Given the description of an element on the screen output the (x, y) to click on. 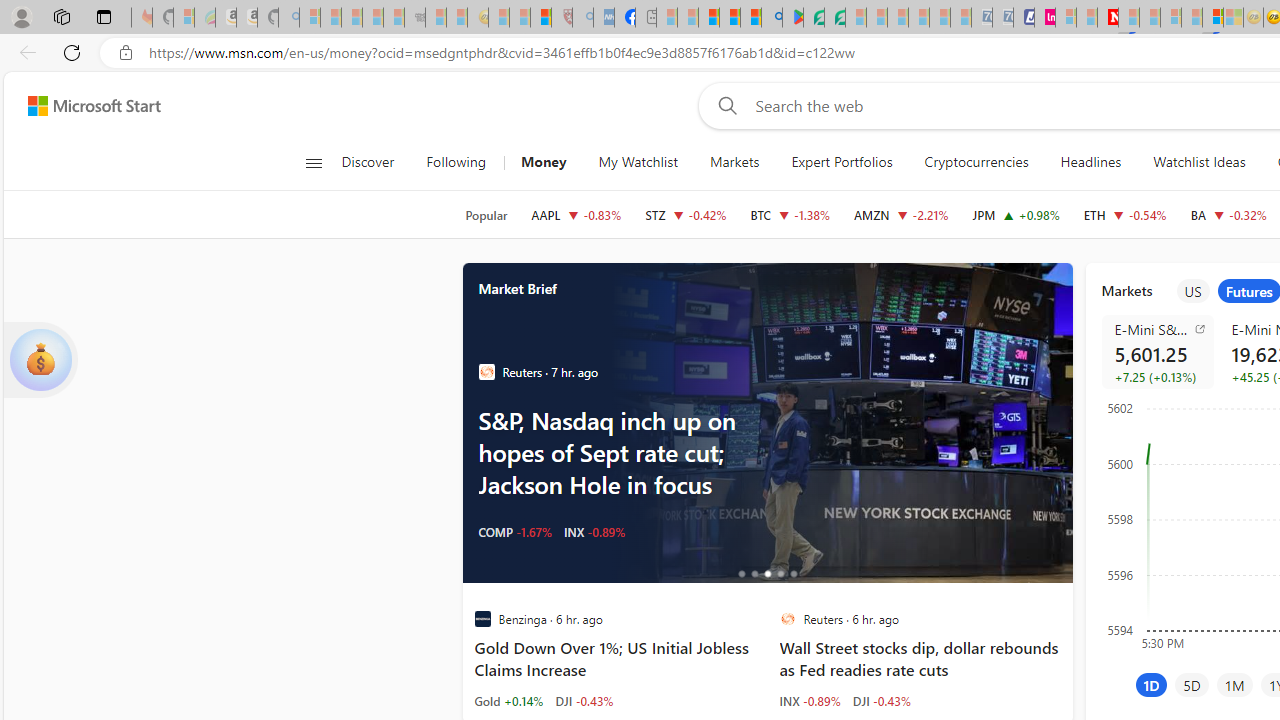
1D (1151, 684)
Pets - MSN (729, 17)
Reuters (787, 619)
Local - MSN (541, 17)
INX -0.89% (809, 700)
BTC Bitcoin decrease 60,534.75 -837.20 -1.38% (790, 214)
Microsoft Word - consumer-privacy address update 2.2021 (834, 17)
E-Mini S&P 500 Futures (1160, 328)
